Given the description of an element on the screen output the (x, y) to click on. 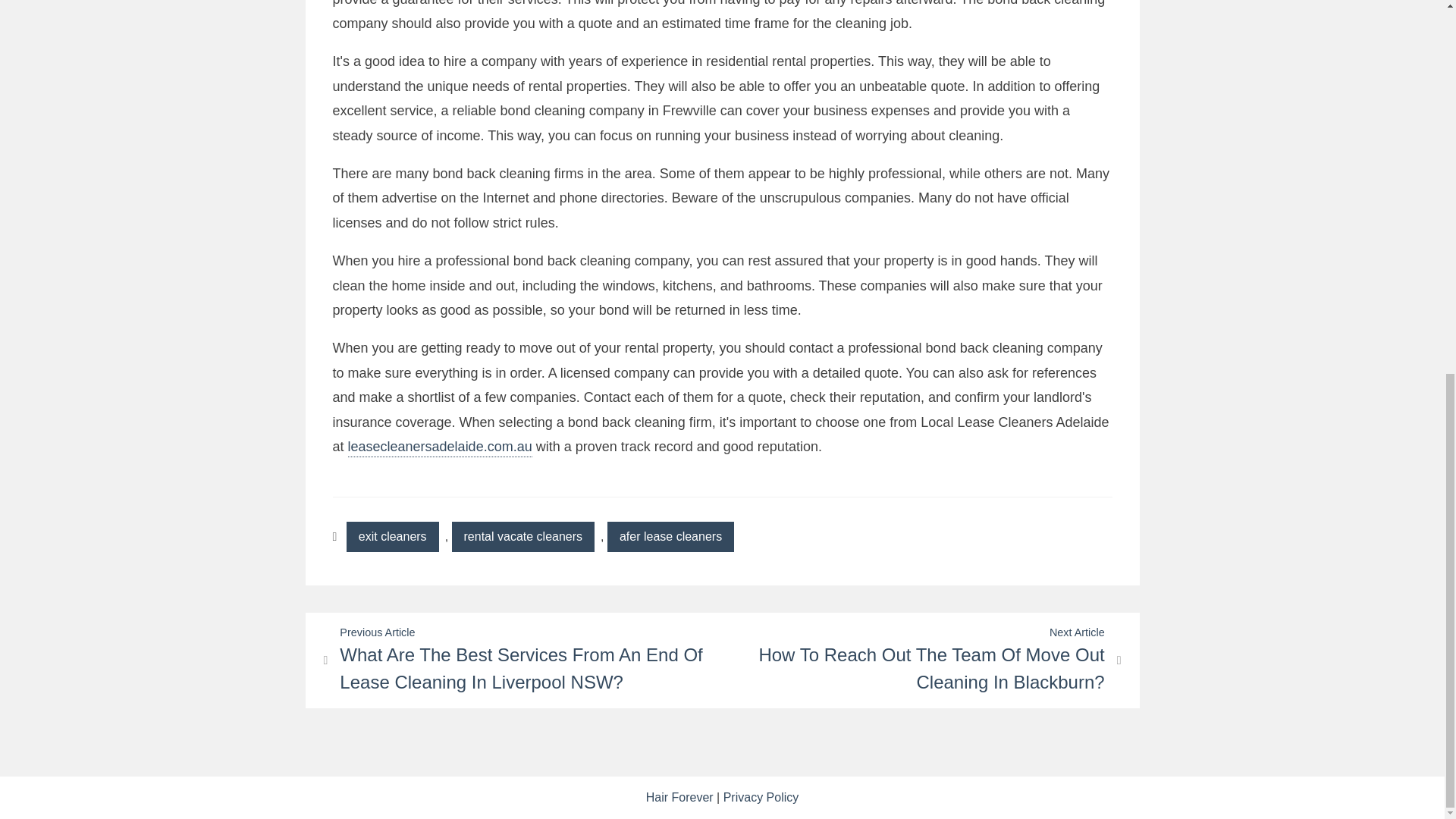
Privacy Policy (761, 797)
rental vacate cleaners (523, 536)
exit cleaners (392, 536)
Hair Forever (679, 797)
leasecleanersadelaide.com.au (439, 447)
afer lease cleaners (670, 536)
